Given the description of an element on the screen output the (x, y) to click on. 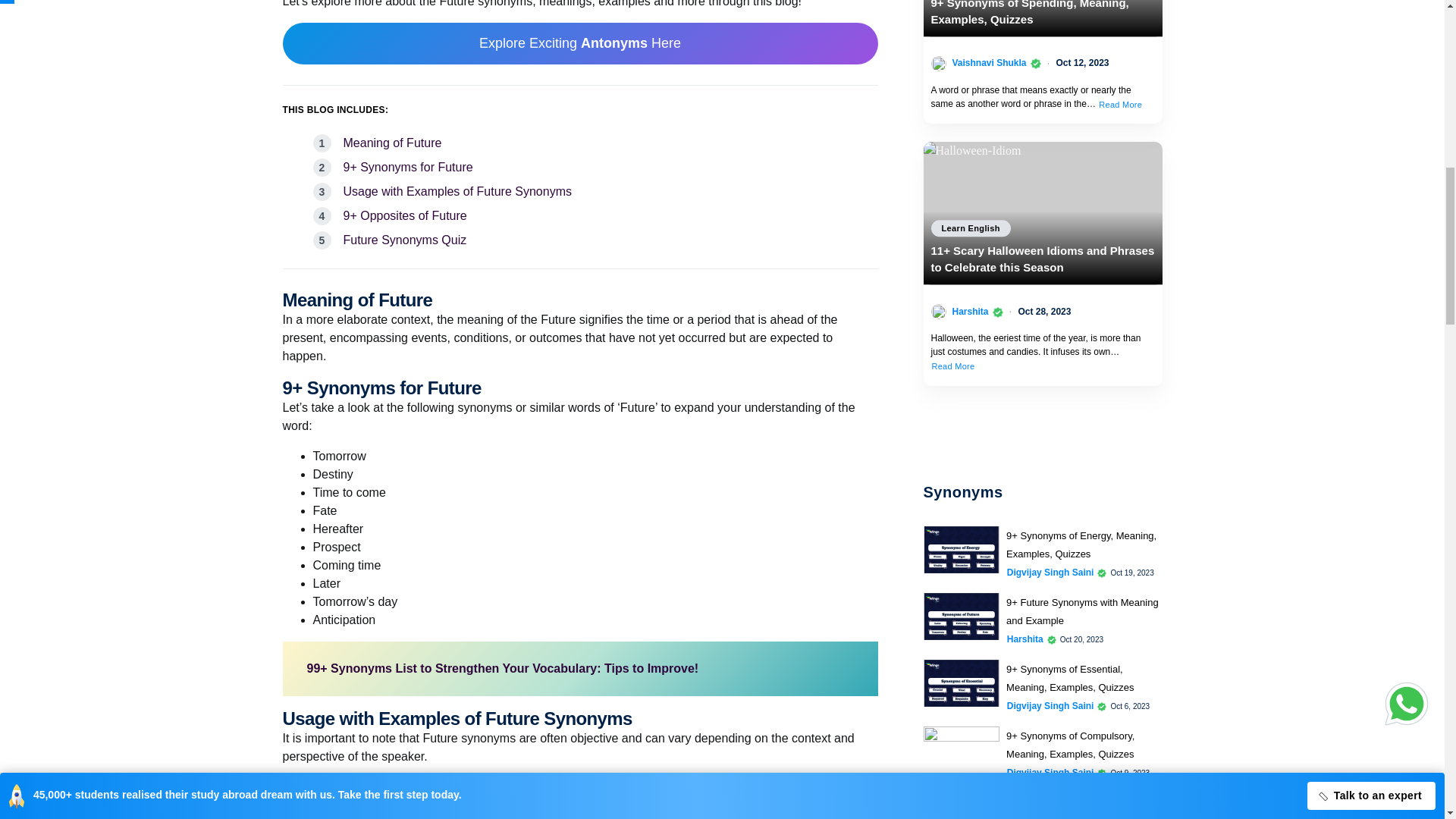
View all posts by Harshita (1025, 639)
View all posts by Digvijay Singh Saini (1050, 705)
View all posts by Vaishnavi Shukla (989, 62)
View all posts by Digvijay Singh Saini (1050, 772)
View all posts by Digvijay Singh Saini (1050, 572)
View all posts by Harshita (970, 311)
